Given the description of an element on the screen output the (x, y) to click on. 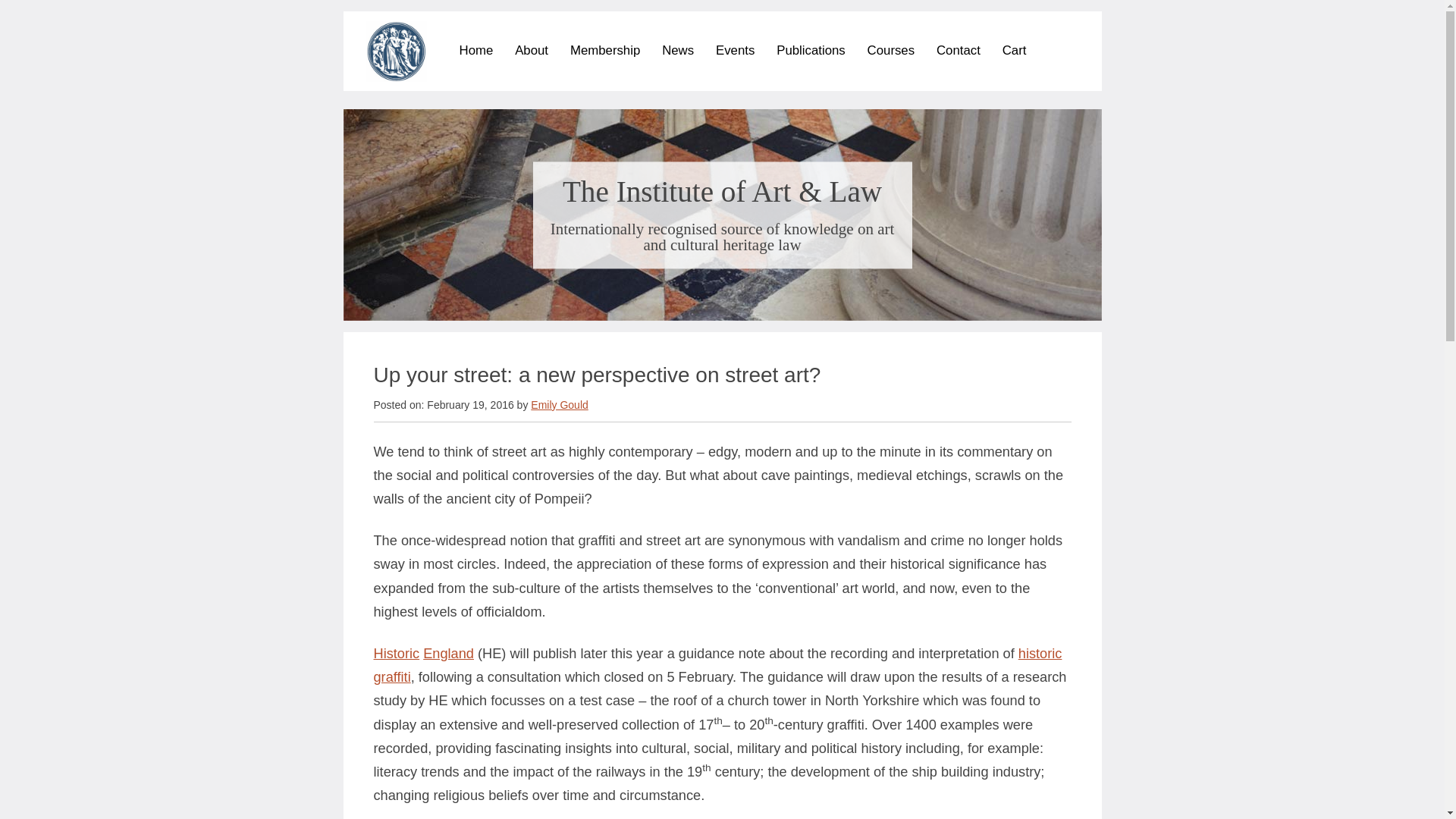
historic graffiti (716, 665)
Contact (957, 50)
News (678, 50)
Upcoming Events (807, 73)
Emily Gould (559, 404)
Courses (891, 50)
England (448, 653)
Posts by Emily Gould (559, 404)
